Given the description of an element on the screen output the (x, y) to click on. 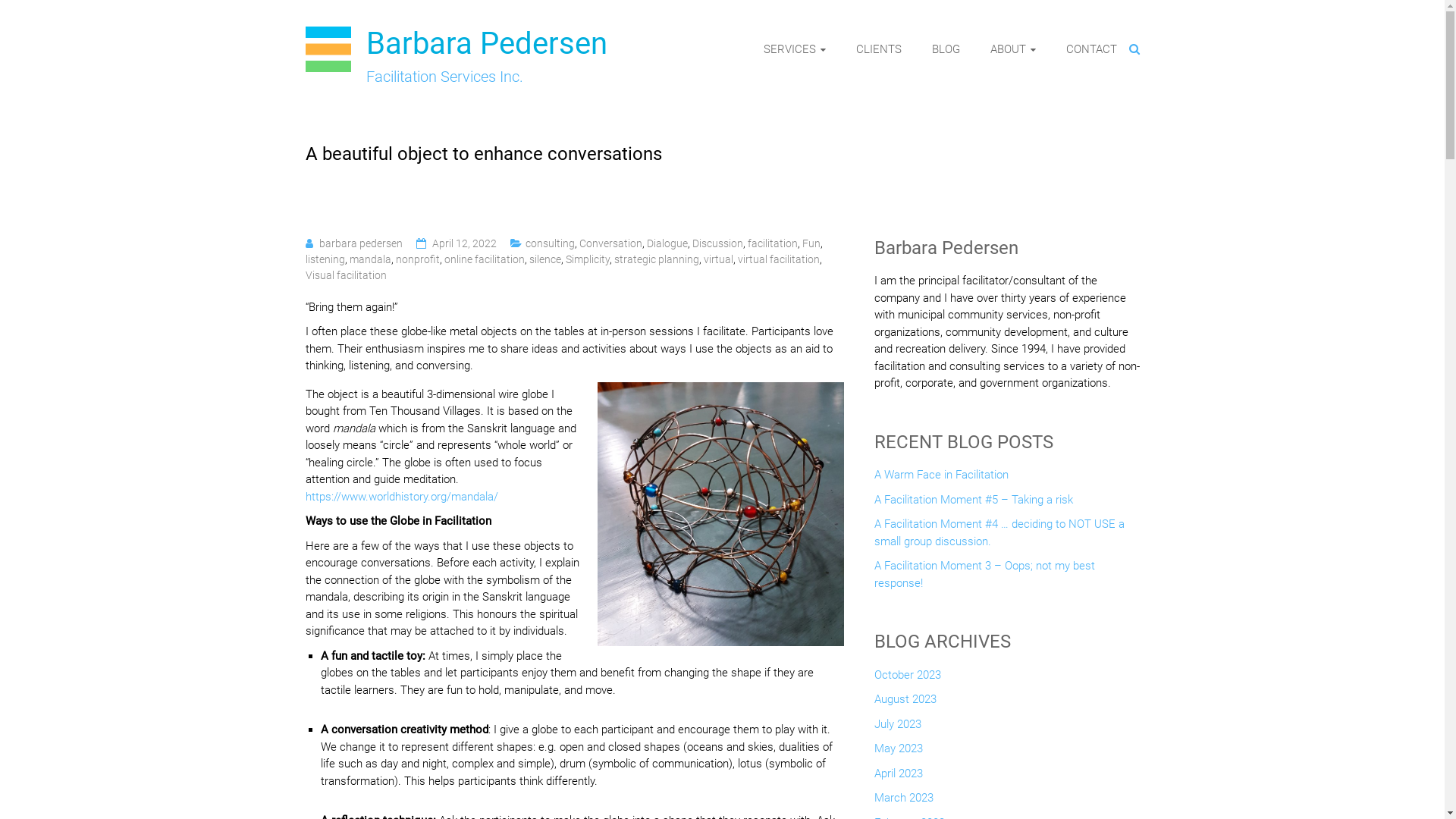
facilitation Element type: text (772, 243)
virtual facilitation Element type: text (778, 259)
October 2023 Element type: text (906, 678)
April 12, 2022 Element type: text (464, 243)
silence Element type: text (545, 259)
listening Element type: text (324, 259)
Dialogue Element type: text (666, 243)
SERVICES Element type: text (793, 48)
barbara pedersen Element type: text (359, 243)
https://www.worldhistory.org/mandala/ Element type: text (400, 496)
CLIENTS Element type: text (877, 48)
August 2023 Element type: text (904, 702)
Visual facilitation Element type: text (344, 275)
ABOUT Element type: text (1012, 48)
Fun Element type: text (811, 243)
nonprofit Element type: text (417, 259)
Barbara Pedersen Element type: text (485, 43)
online facilitation Element type: text (484, 259)
April 2023 Element type: text (897, 777)
CONTACT Element type: text (1091, 48)
A Warm Face in Facilitation Element type: text (940, 478)
May 2023 Element type: text (897, 752)
Discussion Element type: text (716, 243)
Conversation Element type: text (610, 243)
virtual Element type: text (718, 259)
March 2023 Element type: text (902, 801)
mandala Element type: text (369, 259)
July 2023 Element type: text (896, 727)
strategic planning Element type: text (656, 259)
Simplicity Element type: text (587, 259)
consulting Element type: text (549, 243)
BLOG Element type: text (945, 48)
